Given the description of an element on the screen output the (x, y) to click on. 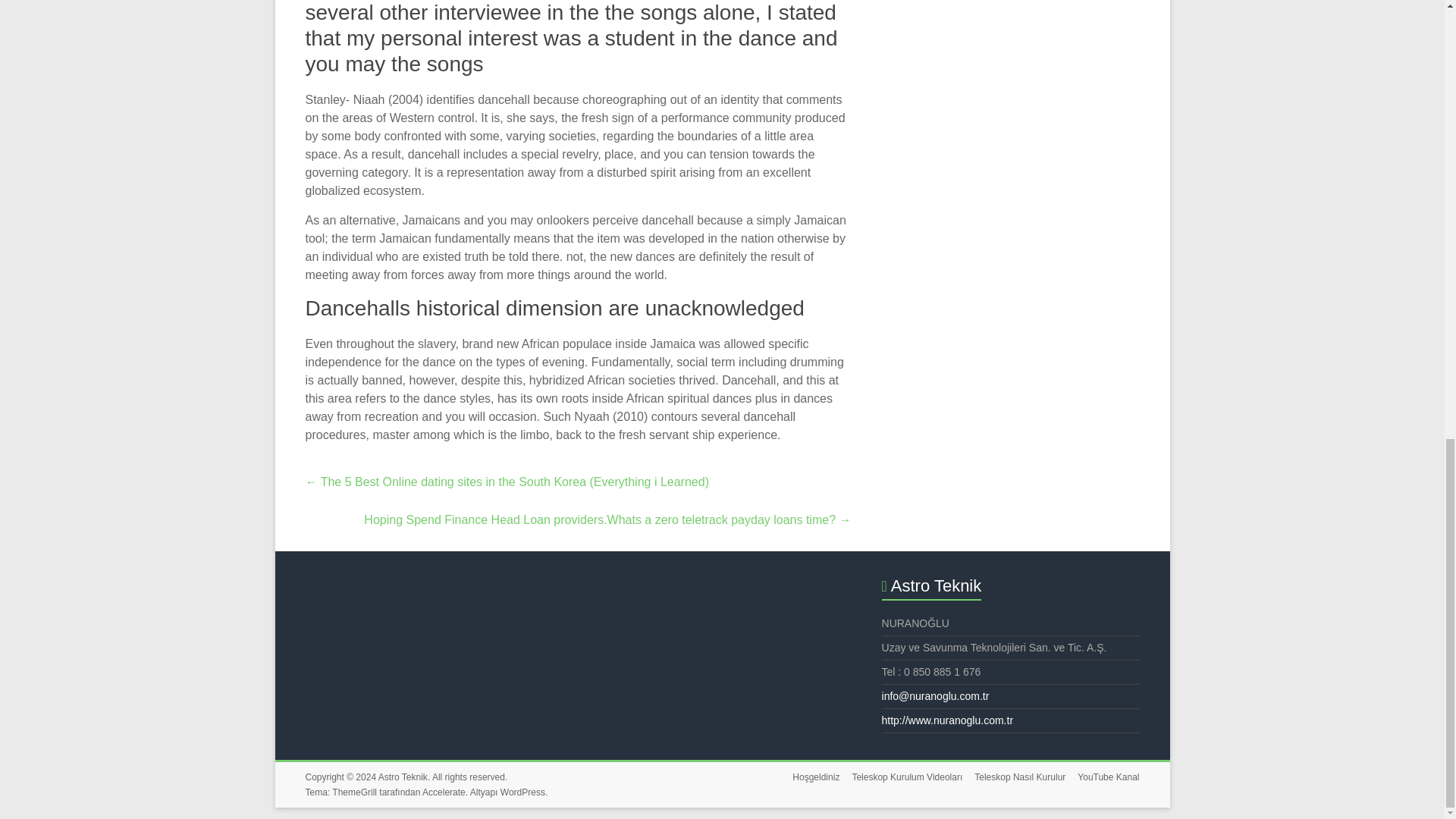
WordPress (522, 792)
Accelerate (443, 792)
Astro Teknik (403, 777)
